Given the description of an element on the screen output the (x, y) to click on. 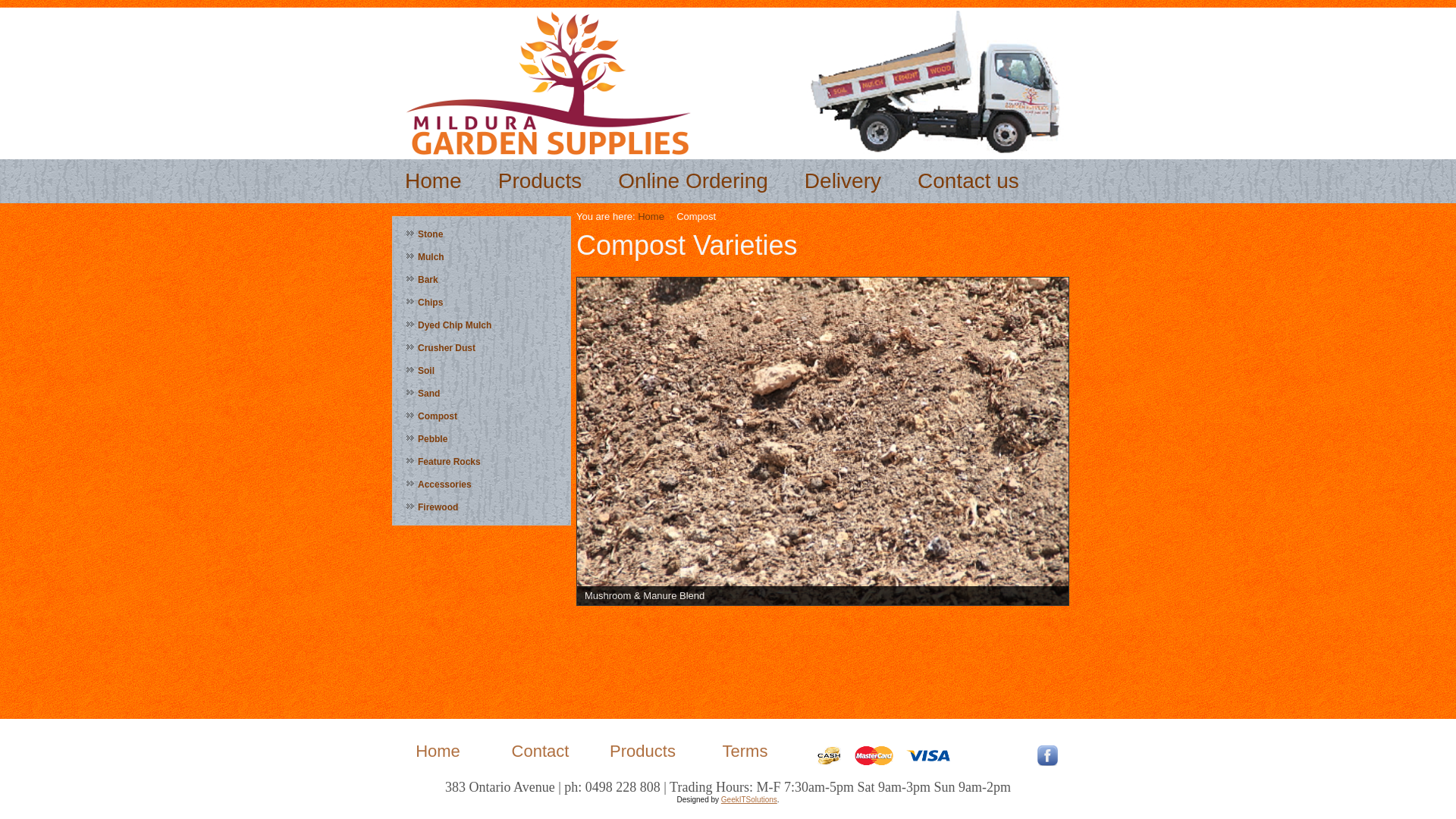
Home Element type: text (650, 216)
Home Element type: text (437, 750)
Terms Element type: text (745, 750)
Pebble Element type: text (481, 438)
Bark Element type: text (481, 279)
Products Element type: text (540, 181)
Contact us Element type: text (968, 181)
Stone Element type: text (481, 233)
Accessories Element type: text (481, 484)
Home Element type: text (433, 181)
Soil Element type: text (481, 370)
Dyed Chip Mulch Element type: text (481, 324)
Chips Element type: text (481, 302)
Contact Element type: text (540, 750)
Products Element type: text (642, 750)
Compost Element type: text (481, 415)
Mulch Element type: text (481, 256)
Delivery Element type: text (842, 181)
Sand Element type: text (481, 393)
Online Ordering Element type: text (692, 181)
GeekITSolutions Element type: text (749, 799)
Crusher Dust Element type: text (481, 347)
Firewood Element type: text (481, 506)
Feature Rocks Element type: text (481, 461)
